Given the description of an element on the screen output the (x, y) to click on. 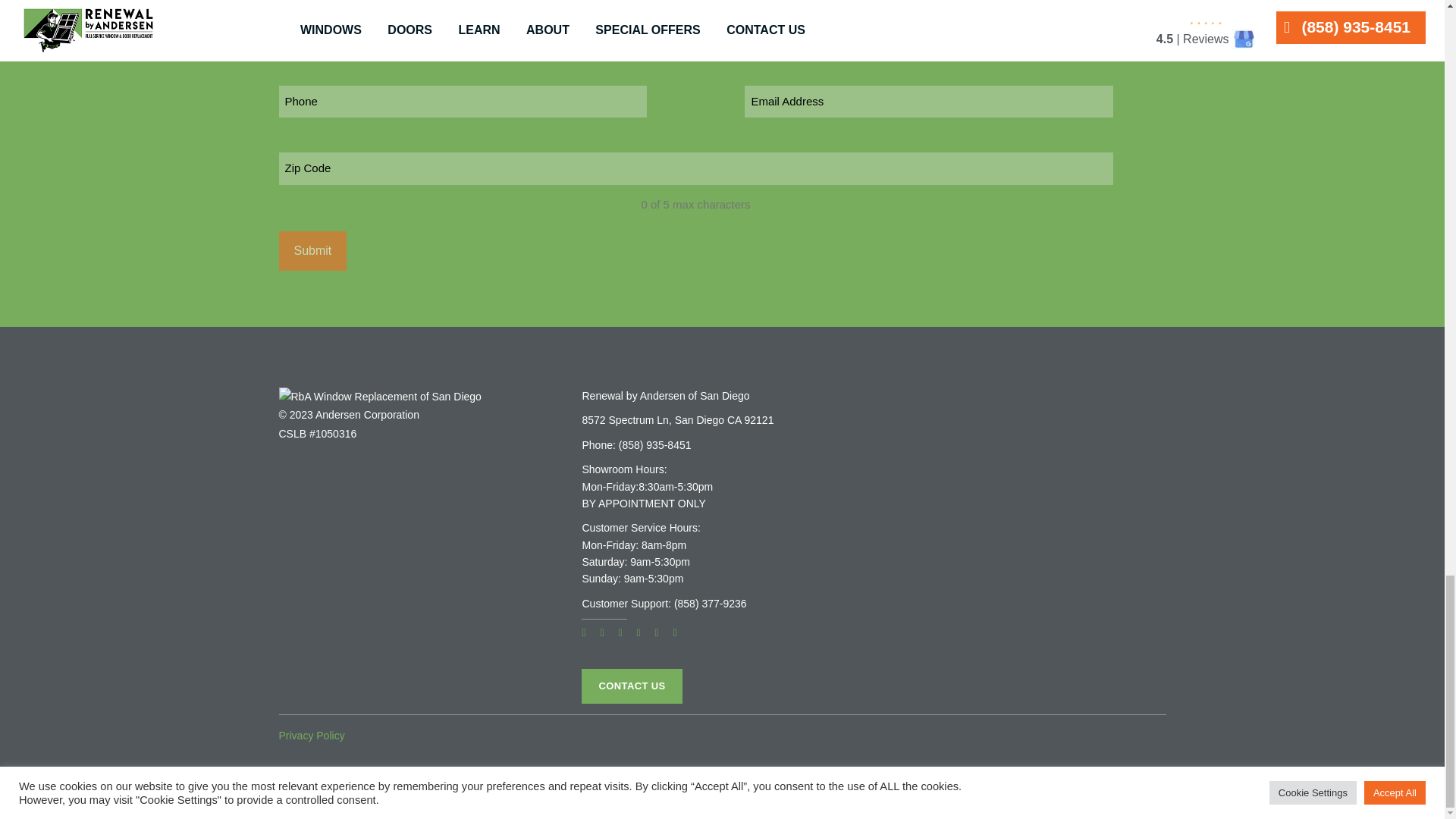
Submit (313, 250)
